Given the description of an element on the screen output the (x, y) to click on. 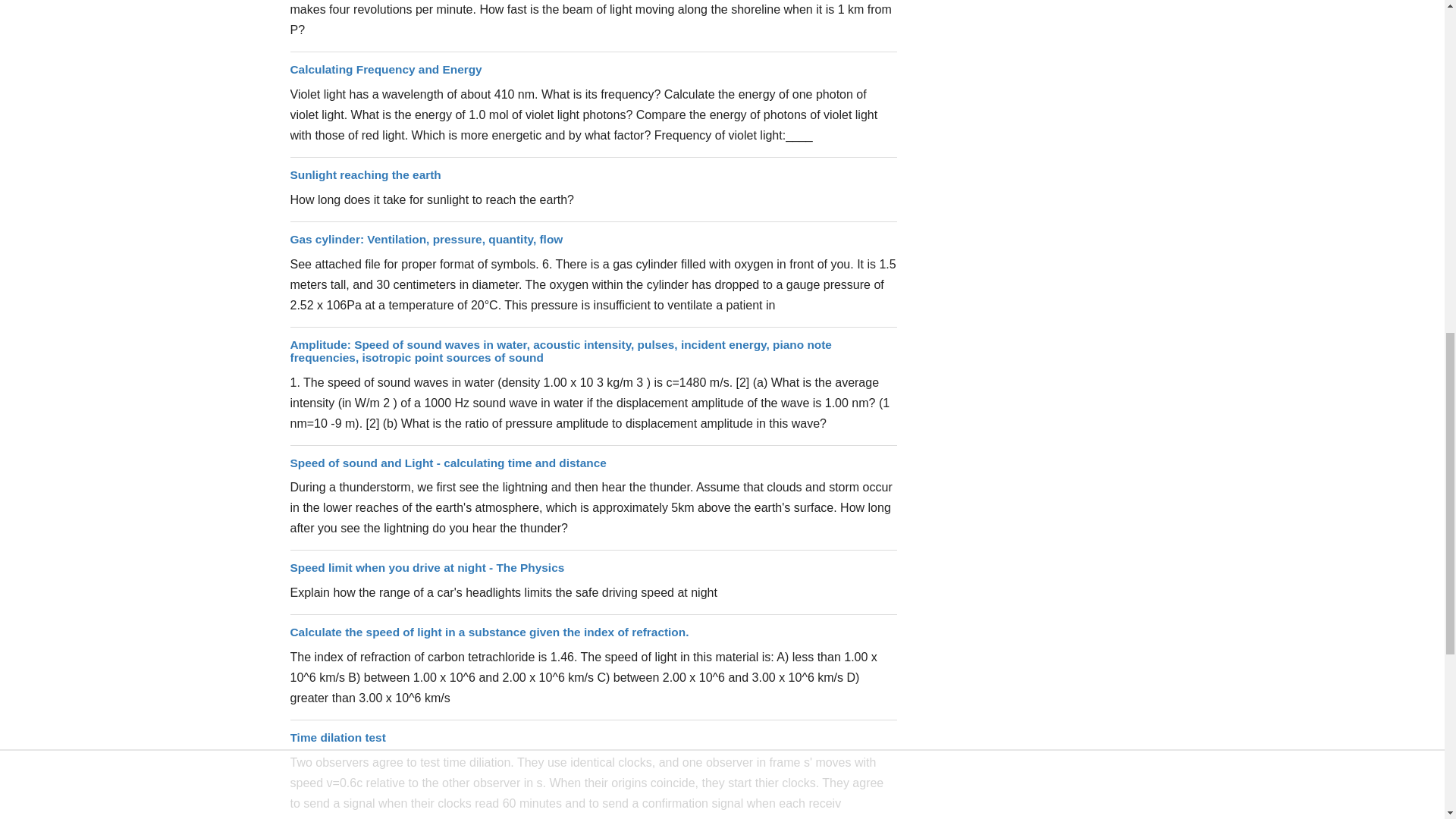
Calculating Frequency and Energy (385, 69)
Time dilation test (337, 737)
Gas cylinder: Ventilation, pressure, quantity, flow (425, 238)
Speed of sound and Light - calculating time and distance (447, 462)
Speed limit when you drive at night - The Physics (426, 567)
Sunlight reaching the earth (365, 174)
